Given the description of an element on the screen output the (x, y) to click on. 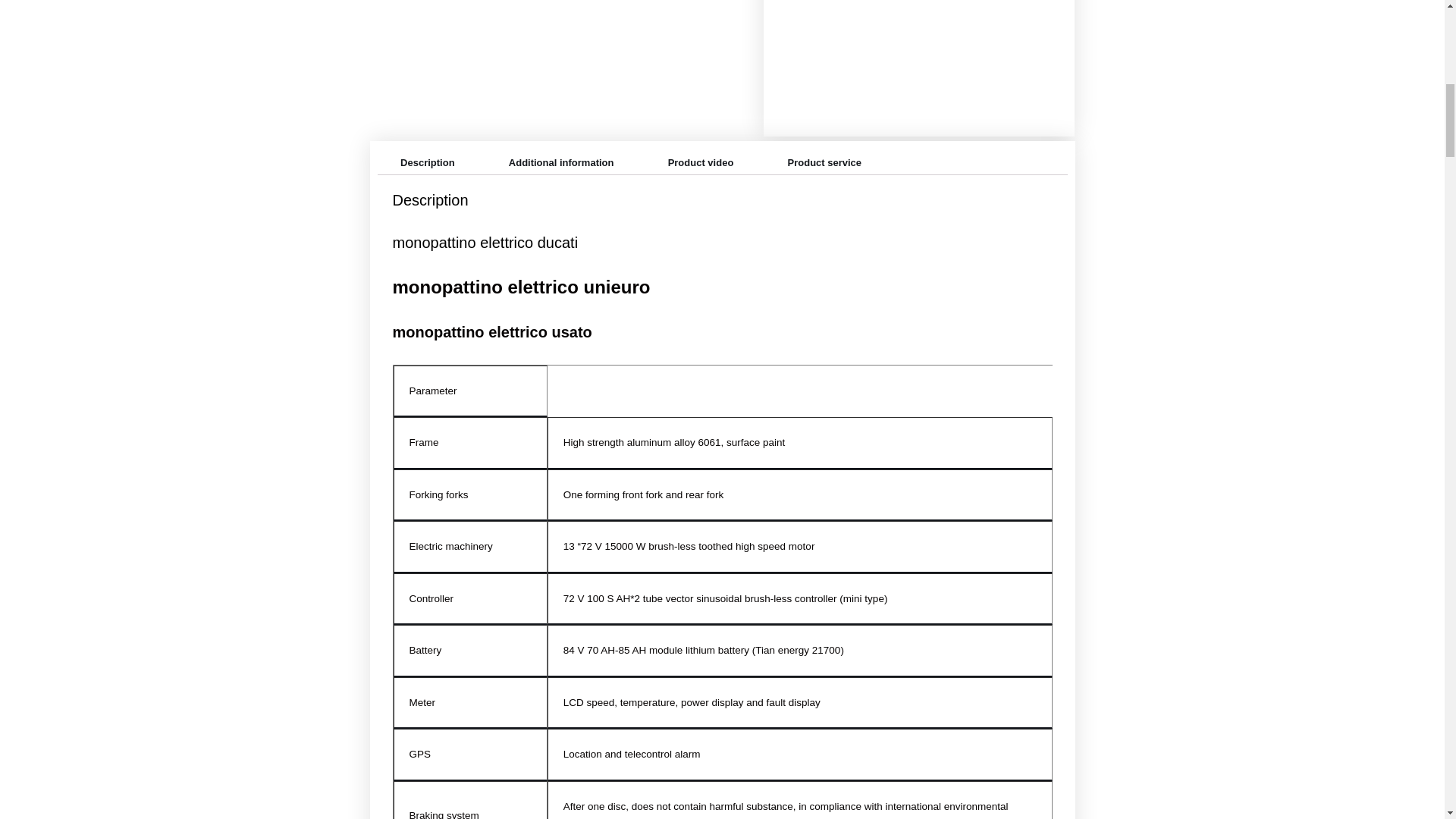
Product video (700, 162)
Additional information (561, 162)
Product service (824, 162)
Description (426, 162)
